Given the description of an element on the screen output the (x, y) to click on. 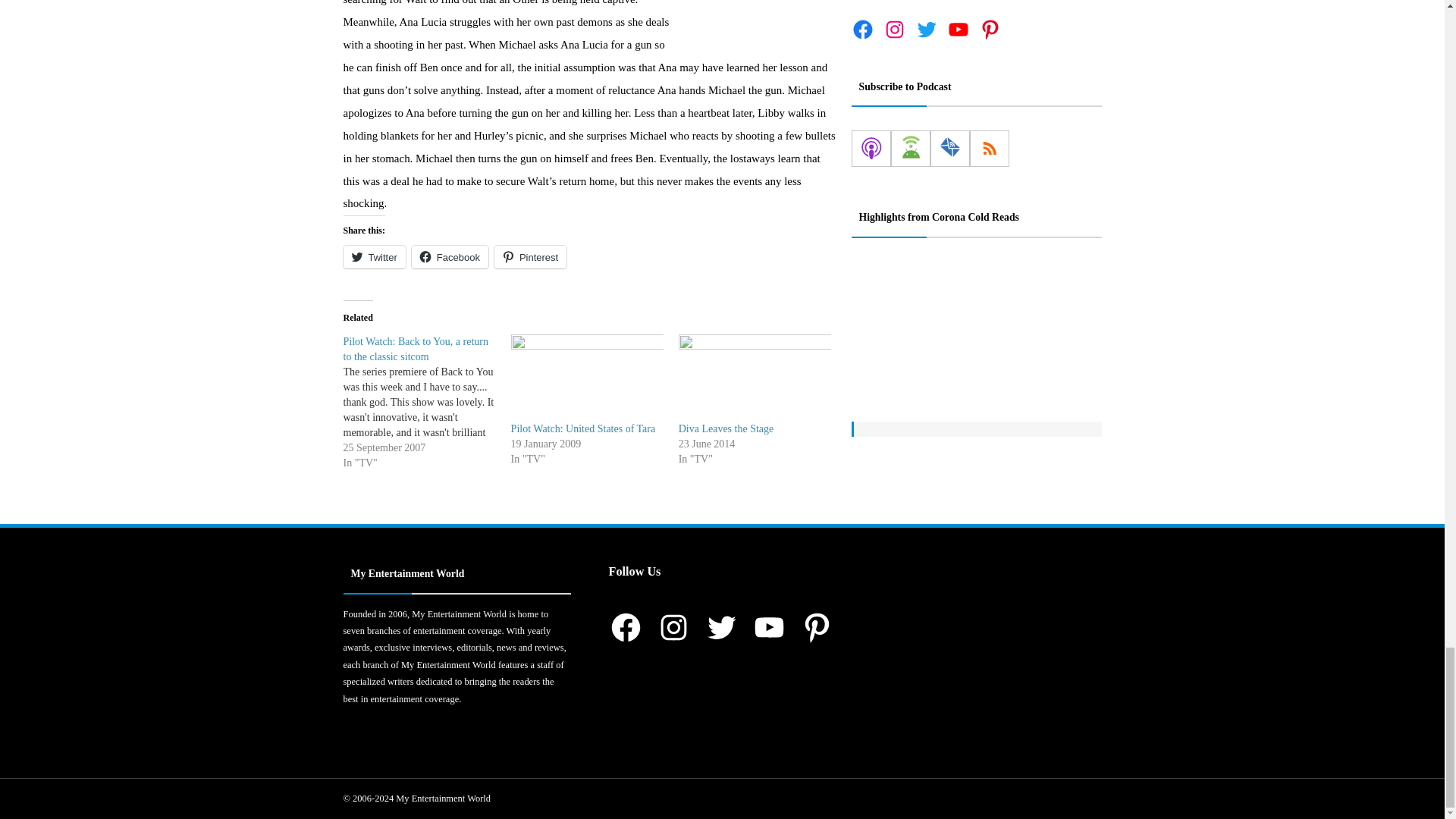
Click to share on Facebook (449, 256)
Twitter (373, 256)
Pilot Watch: United States of Tara (583, 428)
Pilot Watch: Back to You, a return to the classic sitcom (414, 348)
Diva Leaves the Stage (726, 428)
Facebook (449, 256)
Click to share on Pinterest (530, 256)
Click to share on Twitter (373, 256)
Pilot Watch: Back to You, a return to the classic sitcom (426, 402)
Diva Leaves the Stage (754, 377)
Pilot Watch: United States of Tara (587, 377)
